Given the description of an element on the screen output the (x, y) to click on. 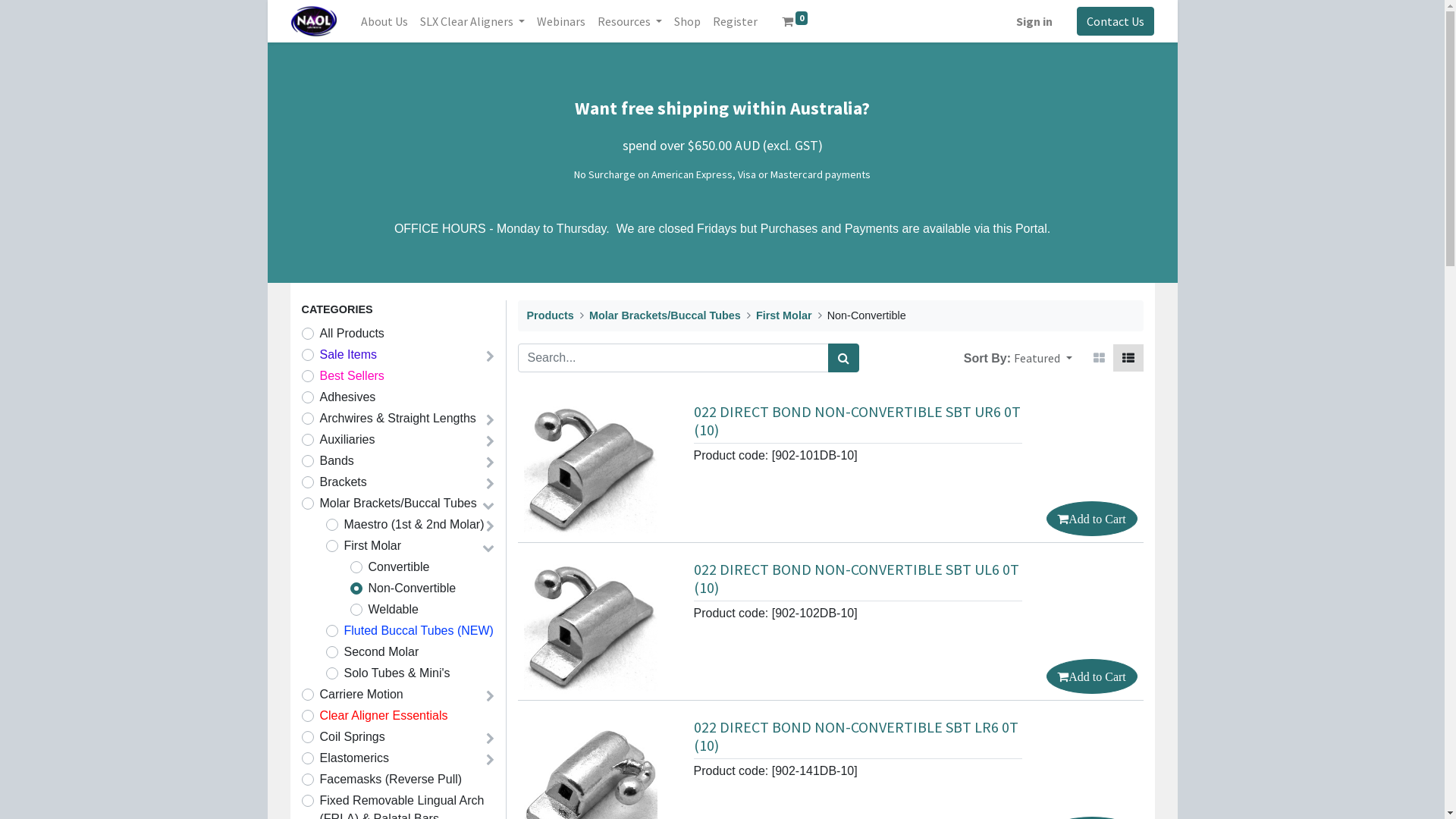
Fold Element type: hover (489, 441)
Fold Element type: hover (489, 420)
Fold Element type: hover (489, 483)
Register Element type: text (734, 21)
Fold Element type: hover (489, 356)
022 DIRECT BOND NON-CONVERTIBLE SBT UR6 0T (10) Element type: text (856, 420)
Grid Element type: hover (1098, 357)
022 DIRECT BOND NON-CONVERTIBLE SBT UL6 0T (10) Element type: text (855, 577)
Molar Brackets/Buccal Tubes Element type: text (664, 315)
Fold Element type: hover (489, 526)
022 DIRECT BOND NON-CONVERTIBLE SBT LR6 0T (10) Element type: text (855, 735)
Unfold Element type: hover (488, 547)
Contact Us Element type: text (1115, 20)
SLX Clear Aligners Element type: text (472, 21)
Shop Element type: text (687, 21)
First Molar Element type: text (784, 315)
Unfold Element type: hover (488, 504)
Sign in Element type: text (1034, 21)
List Element type: hover (1128, 357)
Webinars Element type: text (560, 21)
Fold Element type: hover (489, 696)
Add to Cart Element type: text (1091, 518)
Products Element type: text (549, 315)
About Us Element type: text (384, 21)
Fold Element type: hover (489, 738)
0 Element type: text (794, 21)
Add to Cart Element type: text (1091, 675)
Resources Element type: text (629, 21)
Featured Element type: text (1042, 357)
Fold Element type: hover (489, 759)
Search Element type: hover (843, 357)
Fold Element type: hover (489, 462)
NAOL Australia Element type: hover (314, 21)
